Given the description of an element on the screen output the (x, y) to click on. 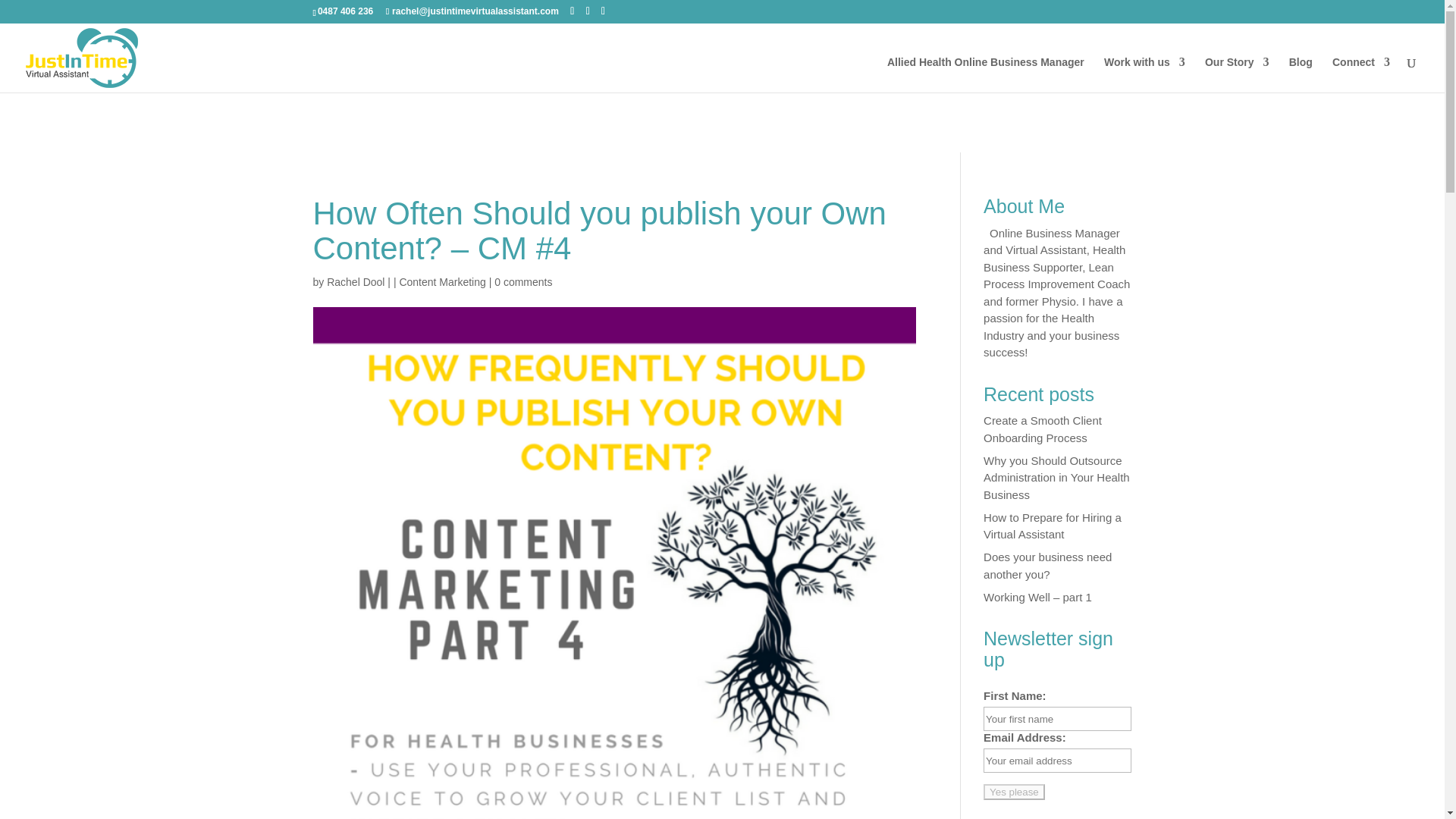
Rachel Dool (355, 282)
Allied Health Online Business Manager (985, 74)
Connect (1361, 74)
Our Story (1237, 74)
Yes please (1014, 791)
Posts by Rachel Dool (355, 282)
Content Marketing (441, 282)
Work with us (1144, 74)
0 comments (523, 282)
